Given the description of an element on the screen output the (x, y) to click on. 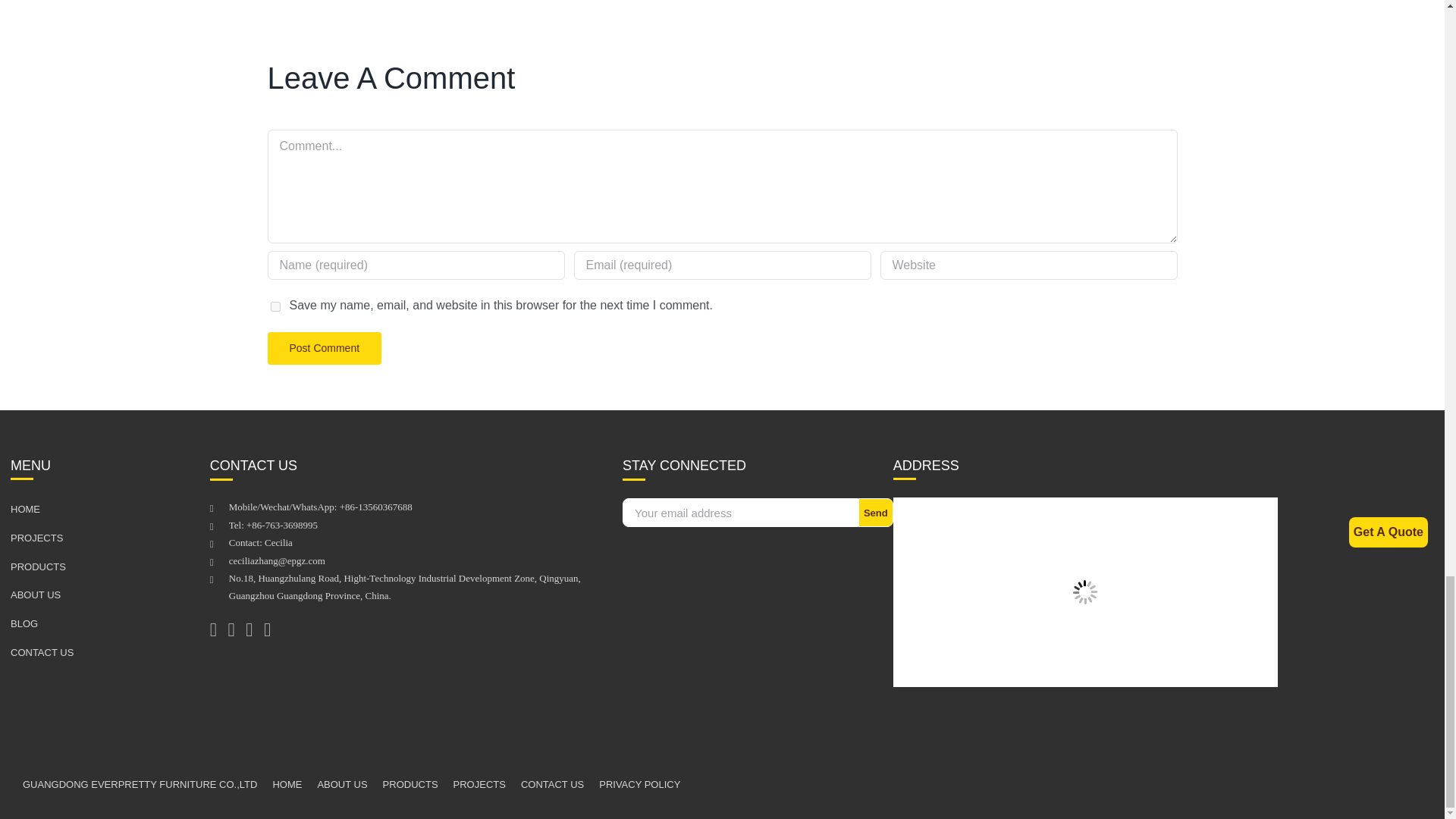
Post Comment (323, 348)
yes (274, 307)
Send (876, 512)
